Given the description of an element on the screen output the (x, y) to click on. 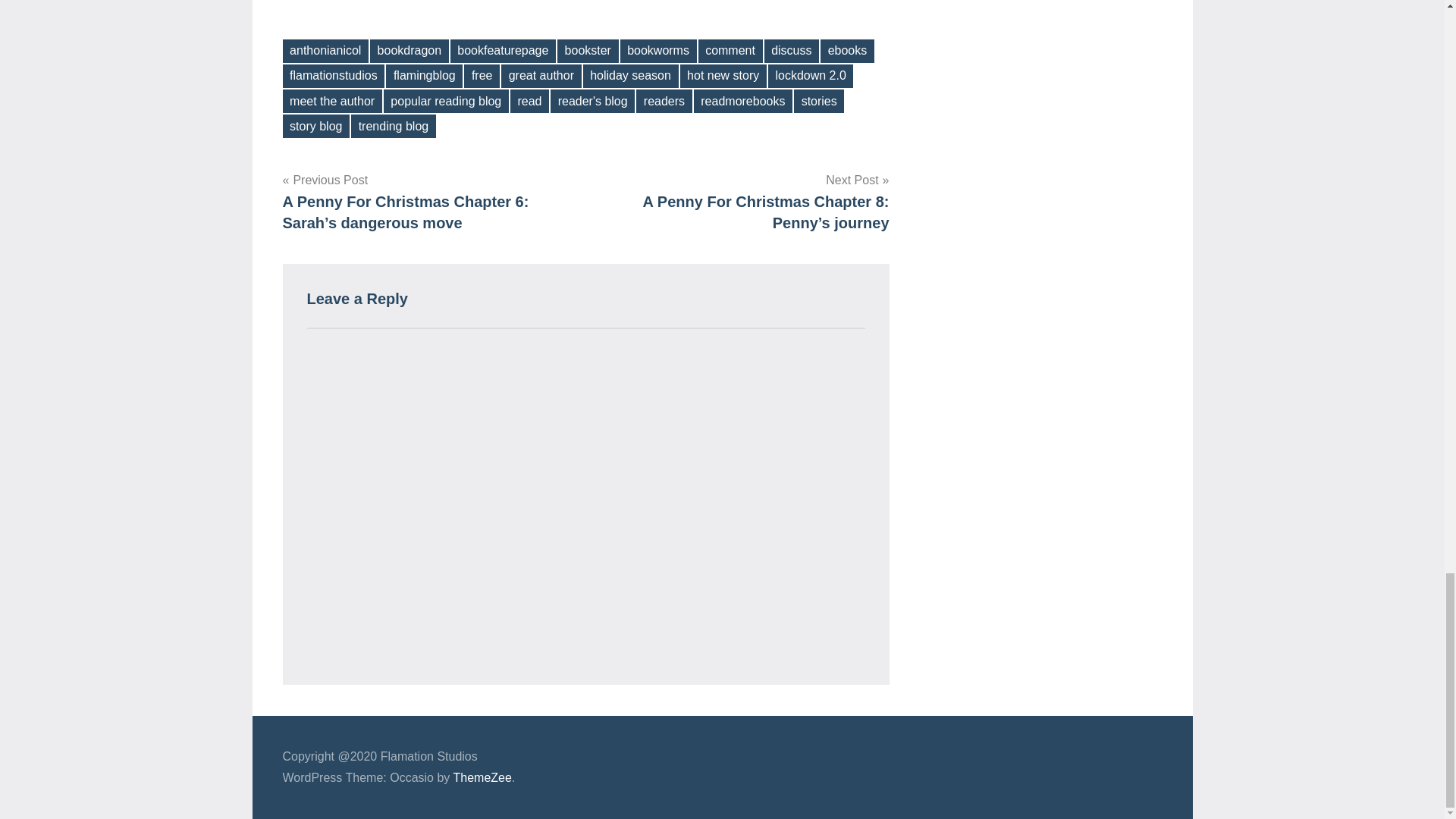
readmorebooks (743, 101)
ebooks (848, 51)
flamingblog (424, 75)
lockdown 2.0 (810, 75)
discuss (791, 51)
bookster (587, 51)
stories (818, 101)
story blog (315, 126)
hot new story (722, 75)
bookworms (658, 51)
read (529, 101)
trending blog (392, 126)
bookdragon (408, 51)
meet the author (331, 101)
